Given the description of an element on the screen output the (x, y) to click on. 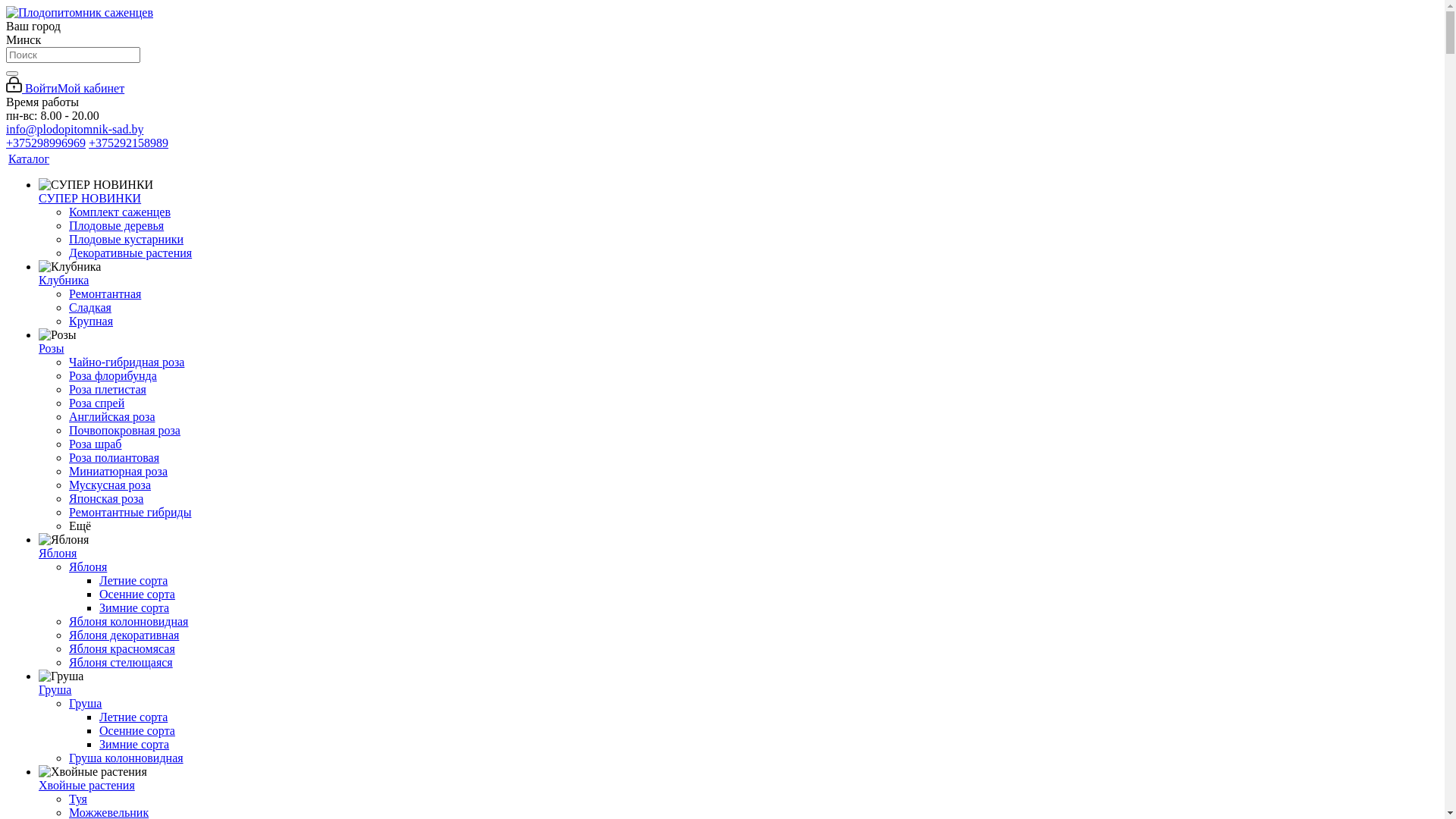
+375298996969 Element type: text (45, 142)
info@plodopitomnik-sad.by Element type: text (74, 128)
+375292158989 Element type: text (128, 142)
